Given the description of an element on the screen output the (x, y) to click on. 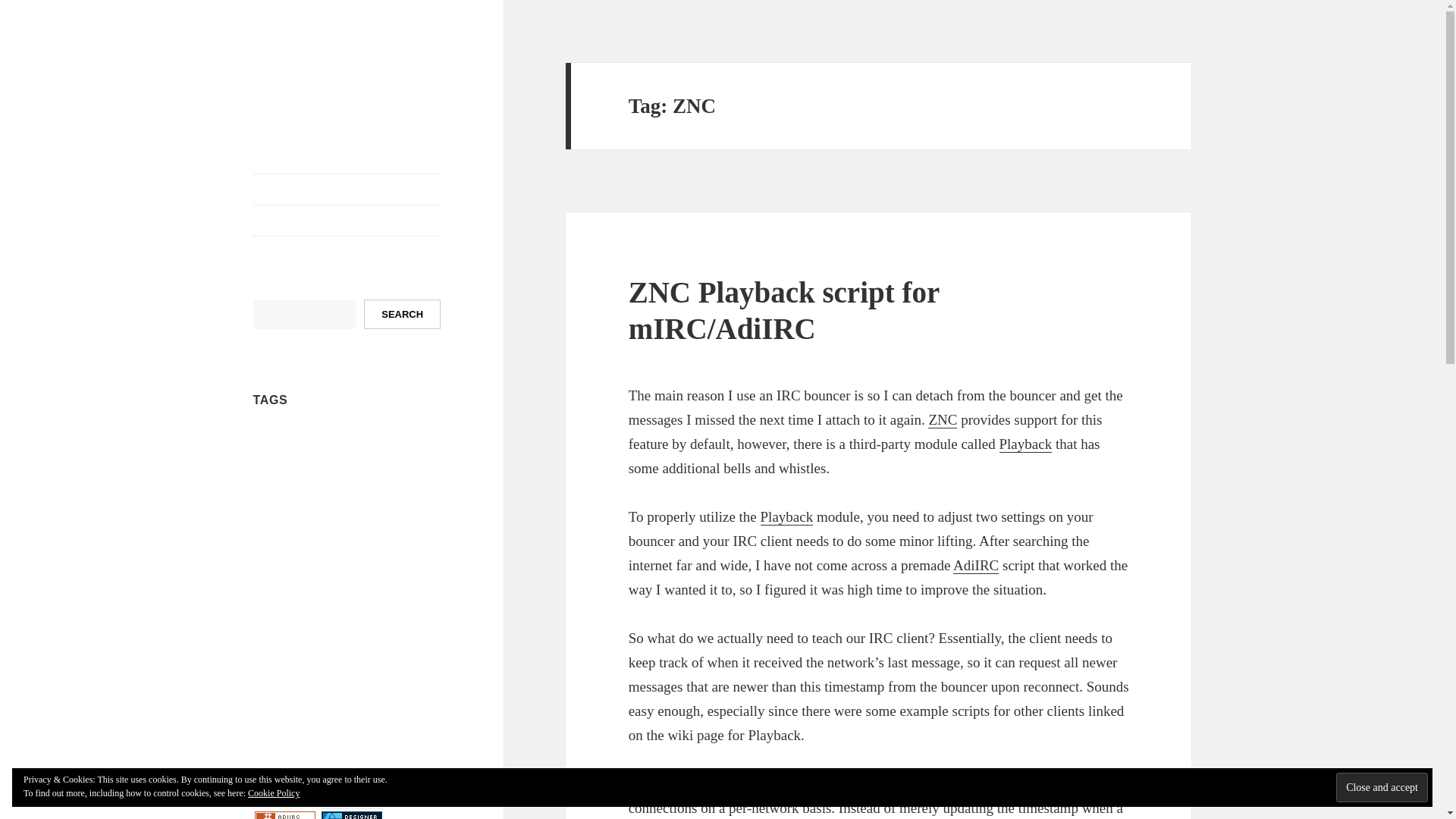
PowerShell (327, 559)
About (347, 189)
How To (281, 485)
Streaming (418, 586)
Cookie Policy (273, 792)
Close and accept (1382, 787)
Affinity Designer (351, 814)
Docker (373, 440)
Hardware (368, 461)
Bitcasa (289, 440)
Portable App (279, 558)
Kagi (321, 488)
Mplayer (277, 508)
Linux (371, 485)
FileLocator (410, 441)
